Given the description of an element on the screen output the (x, y) to click on. 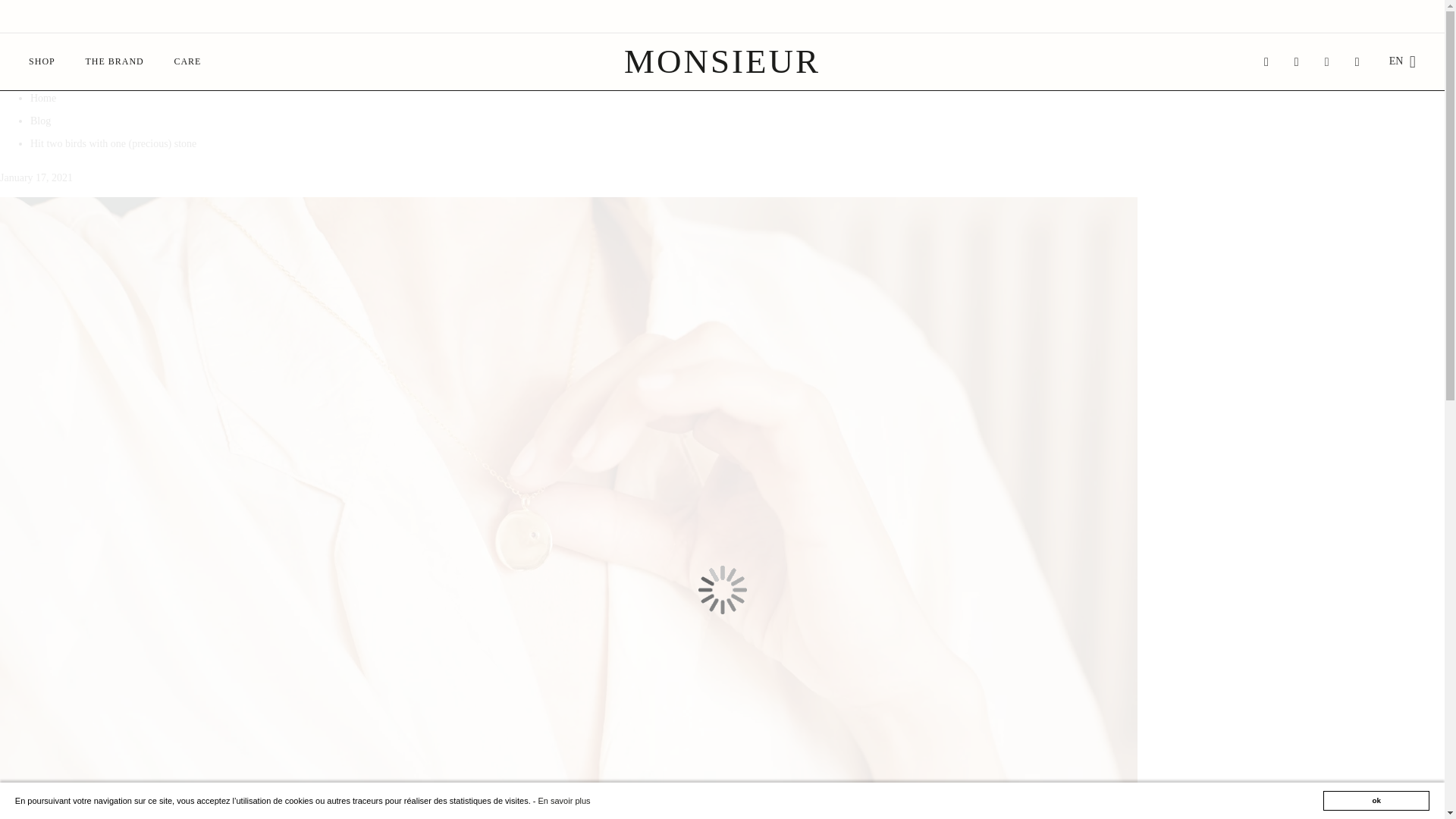
En savoir plus (563, 800)
ok (1376, 800)
Home (43, 98)
Go to Home Page (43, 98)
THE BRAND (113, 61)
Blog (40, 120)
Blog (40, 120)
MONSIEUR (722, 60)
